Given the description of an element on the screen output the (x, y) to click on. 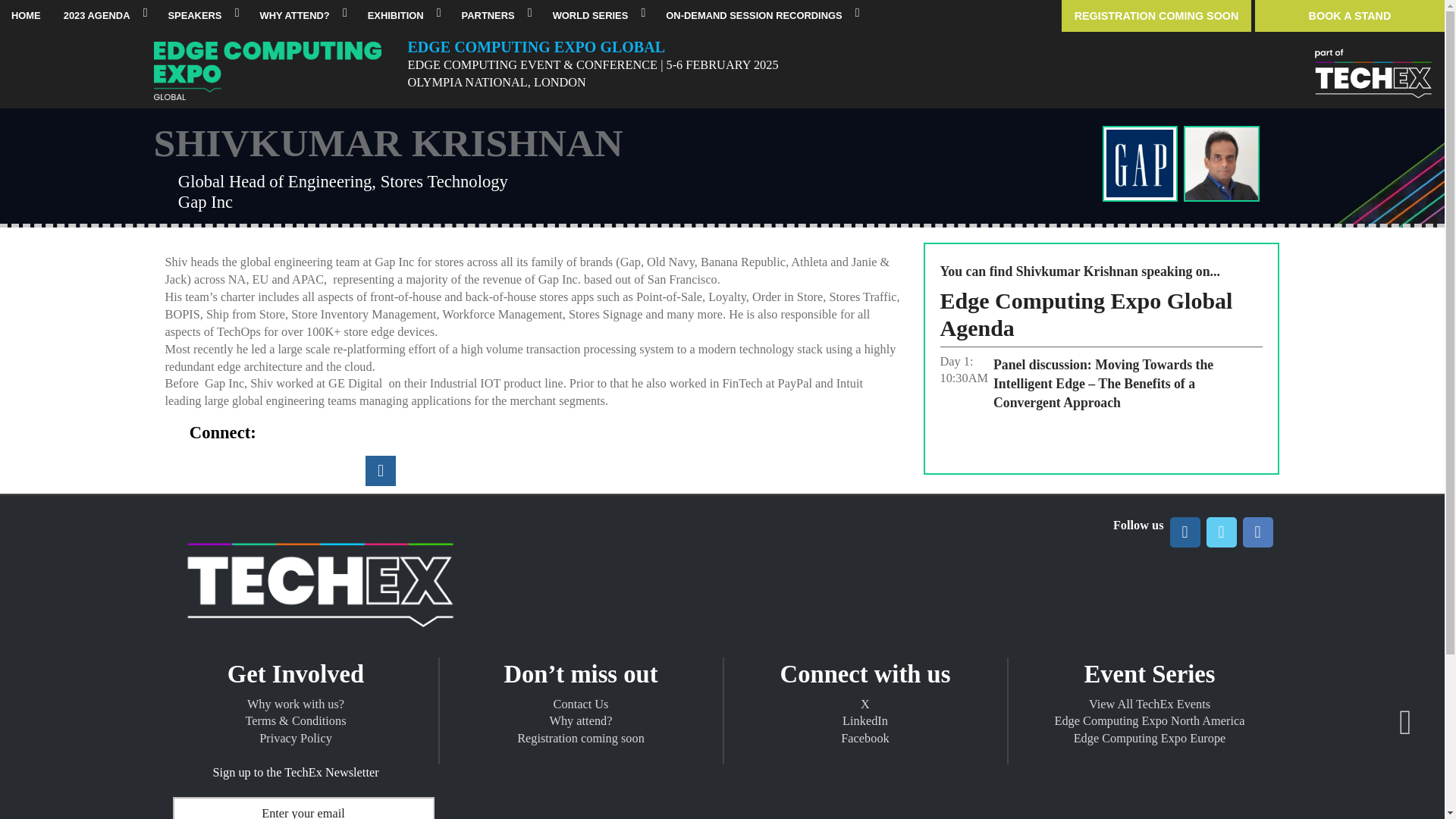
Facebook (1256, 531)
2023 AGENDA (104, 15)
Edge Computing Expo Global (266, 73)
LinkedIn (1184, 531)
SPEAKERS (201, 15)
In association with (1372, 76)
Enter your email (303, 807)
WHY ATTEND? (301, 15)
HOME (26, 15)
LinkedIn (380, 470)
